Given the description of an element on the screen output the (x, y) to click on. 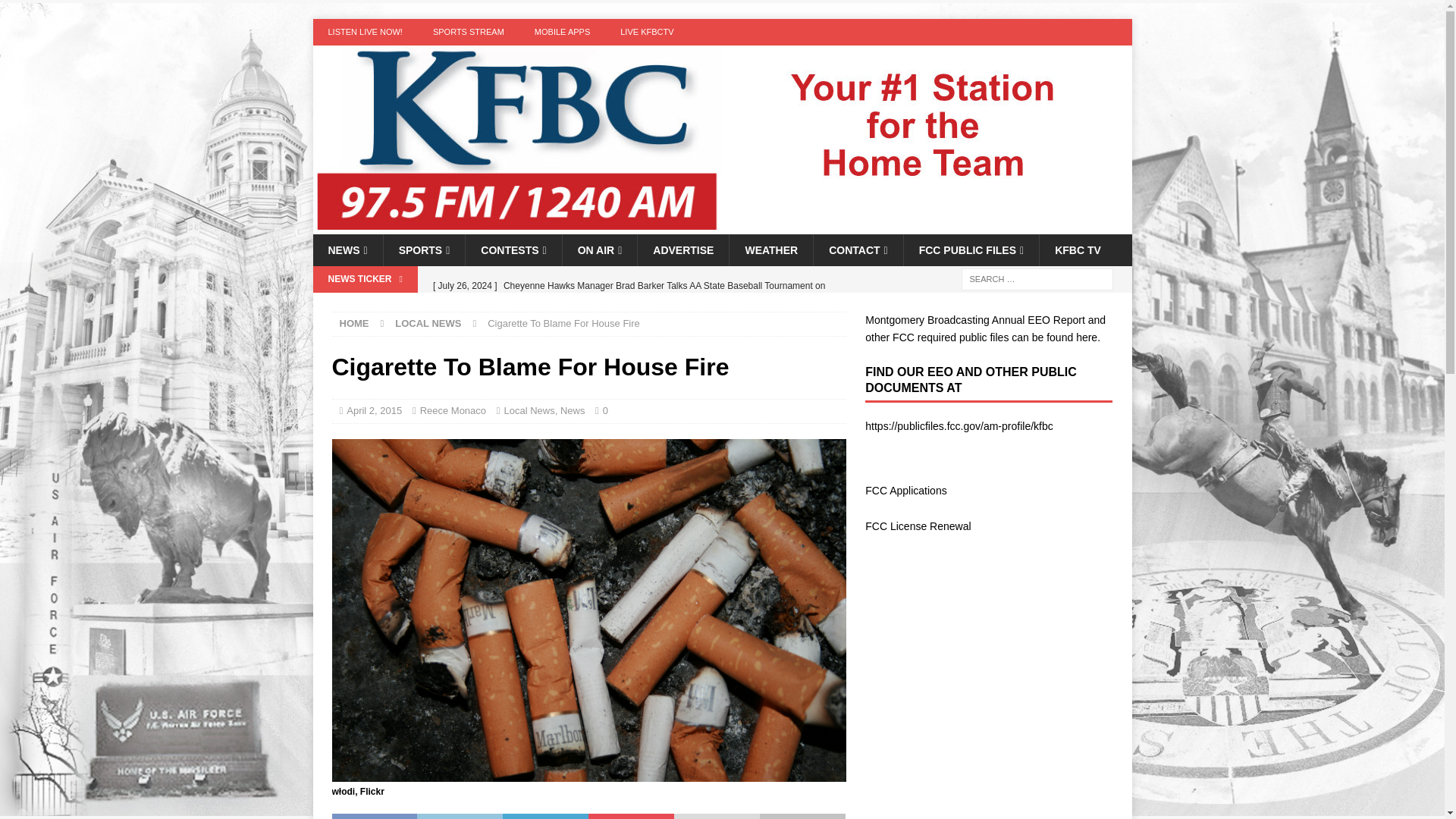
LISTEN LIVE NOW! (364, 31)
SPORTS STREAM (468, 31)
MOBILE APPS (562, 31)
LIVE KFBCTV (646, 31)
